Given the description of an element on the screen output the (x, y) to click on. 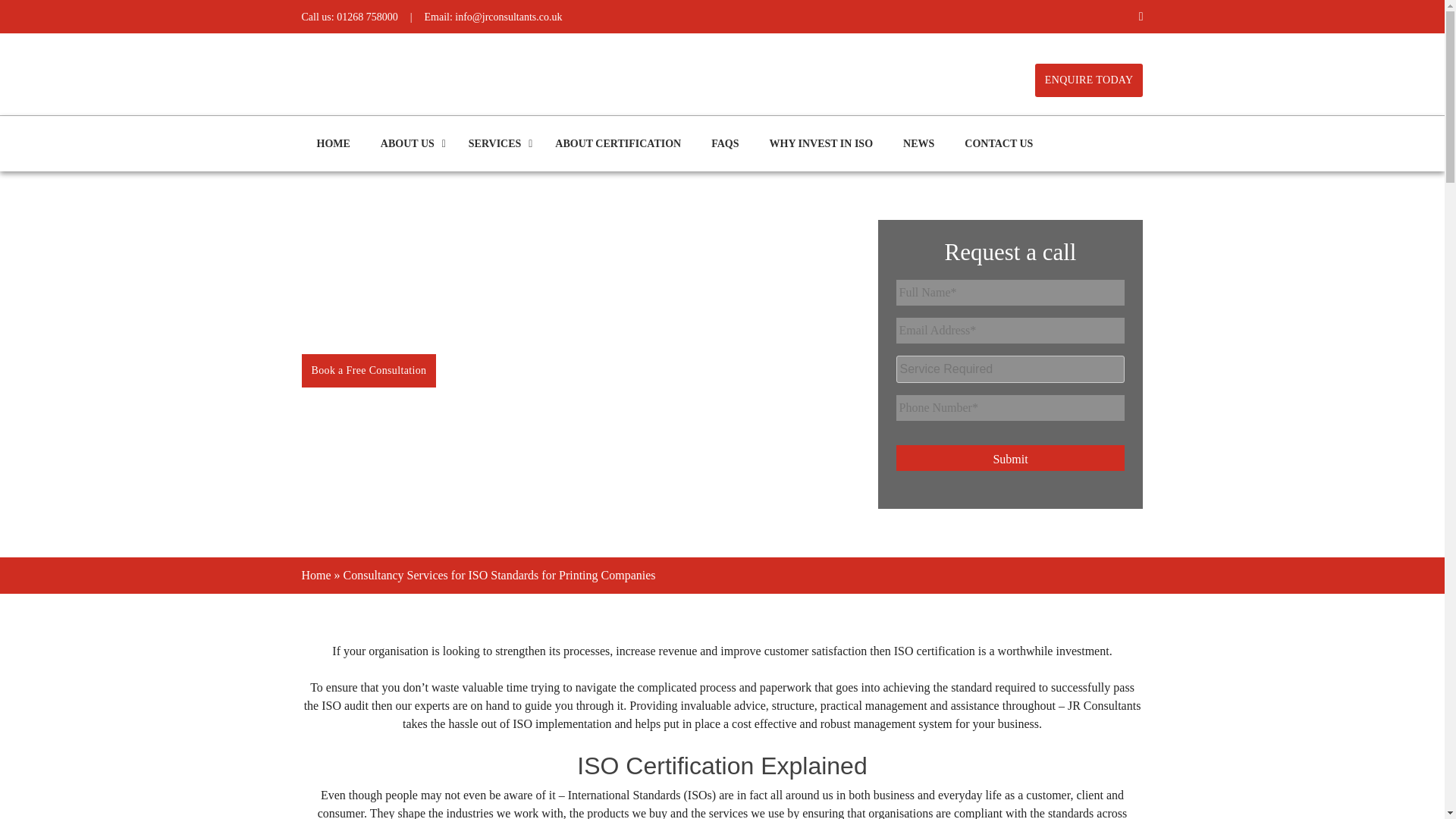
CONTACT US (998, 143)
WHY INVEST IN ISO (821, 143)
HOME (333, 143)
Submit (1010, 457)
Home (316, 574)
ABOUT CERTIFICATION (617, 143)
ABOUT US (408, 143)
FAQS (724, 143)
ENQUIRE TODAY (1088, 80)
